Given the description of an element on the screen output the (x, y) to click on. 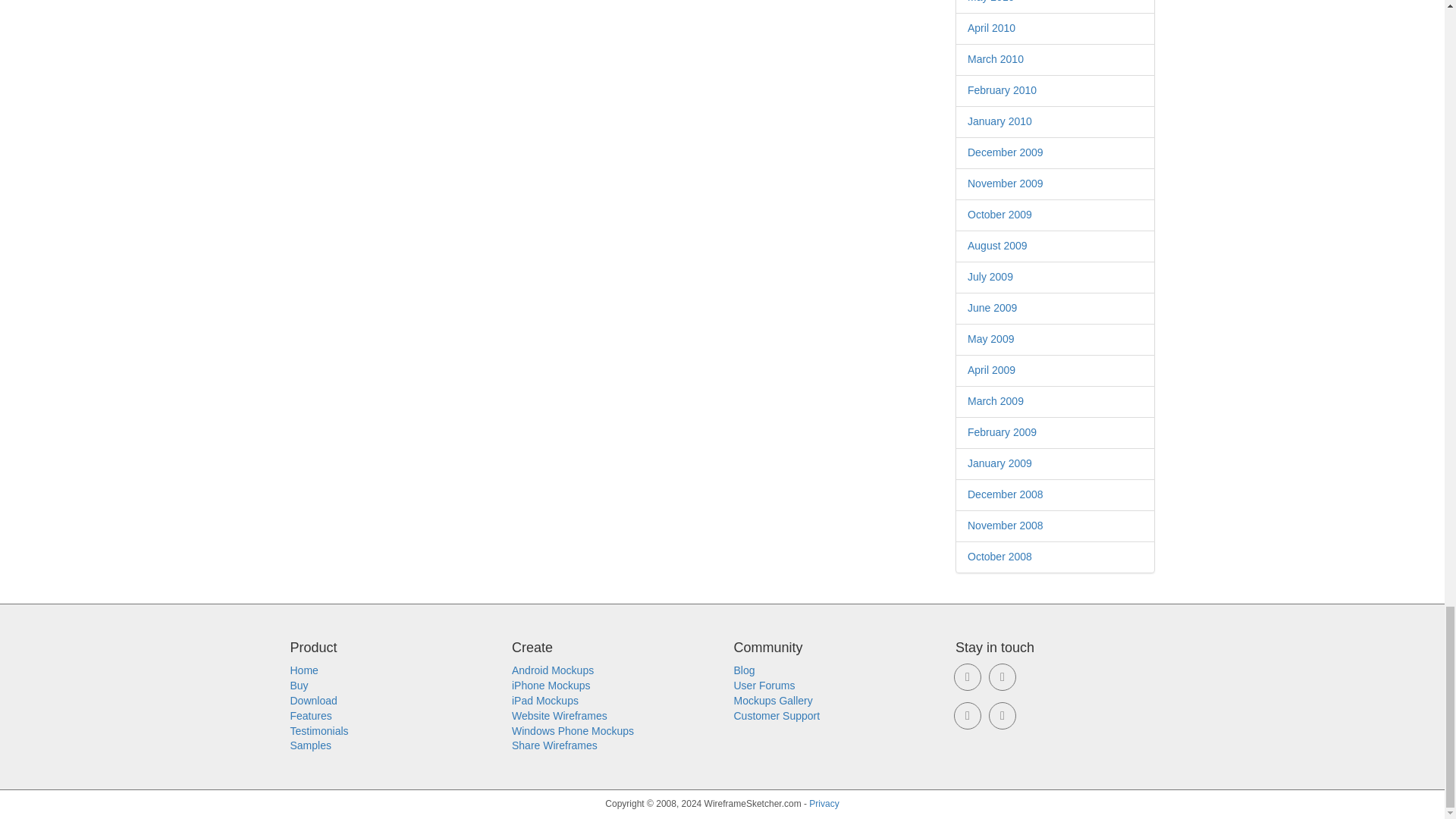
Send us an E-mail (967, 677)
Subcribe to our Blog (1002, 715)
Follow our page on Facebook (1002, 677)
Follow us on X Twitter (967, 715)
